Given the description of an element on the screen output the (x, y) to click on. 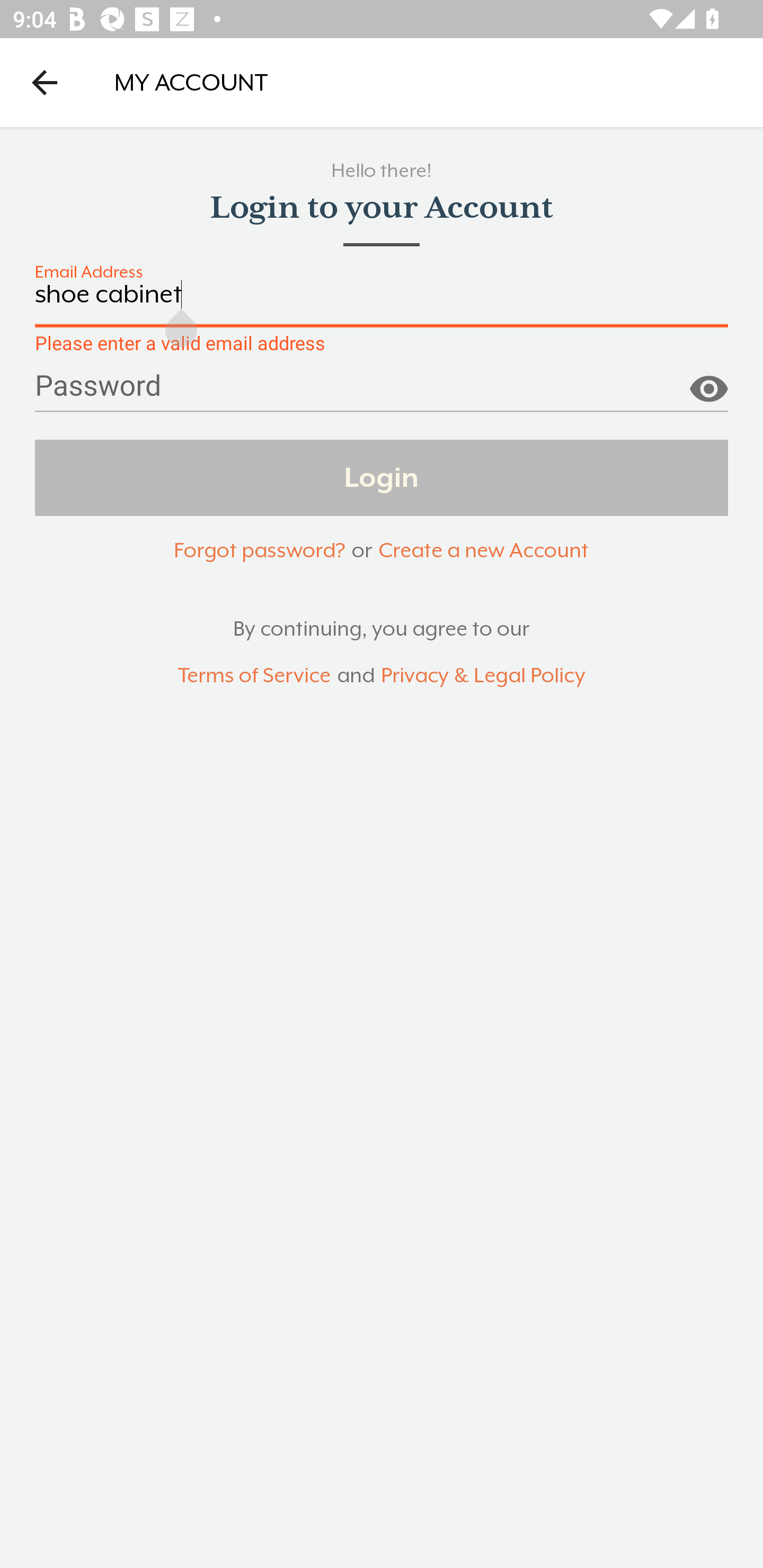
Navigate up (44, 82)
shoe cabinet (381, 304)
 (708, 381)
Password (381, 393)
Login (381, 477)
Forgot password? (259, 550)
Create a new Account (483, 550)
Terms of Service (253, 675)
Privacy & Legal Policy (483, 675)
